Given the description of an element on the screen output the (x, y) to click on. 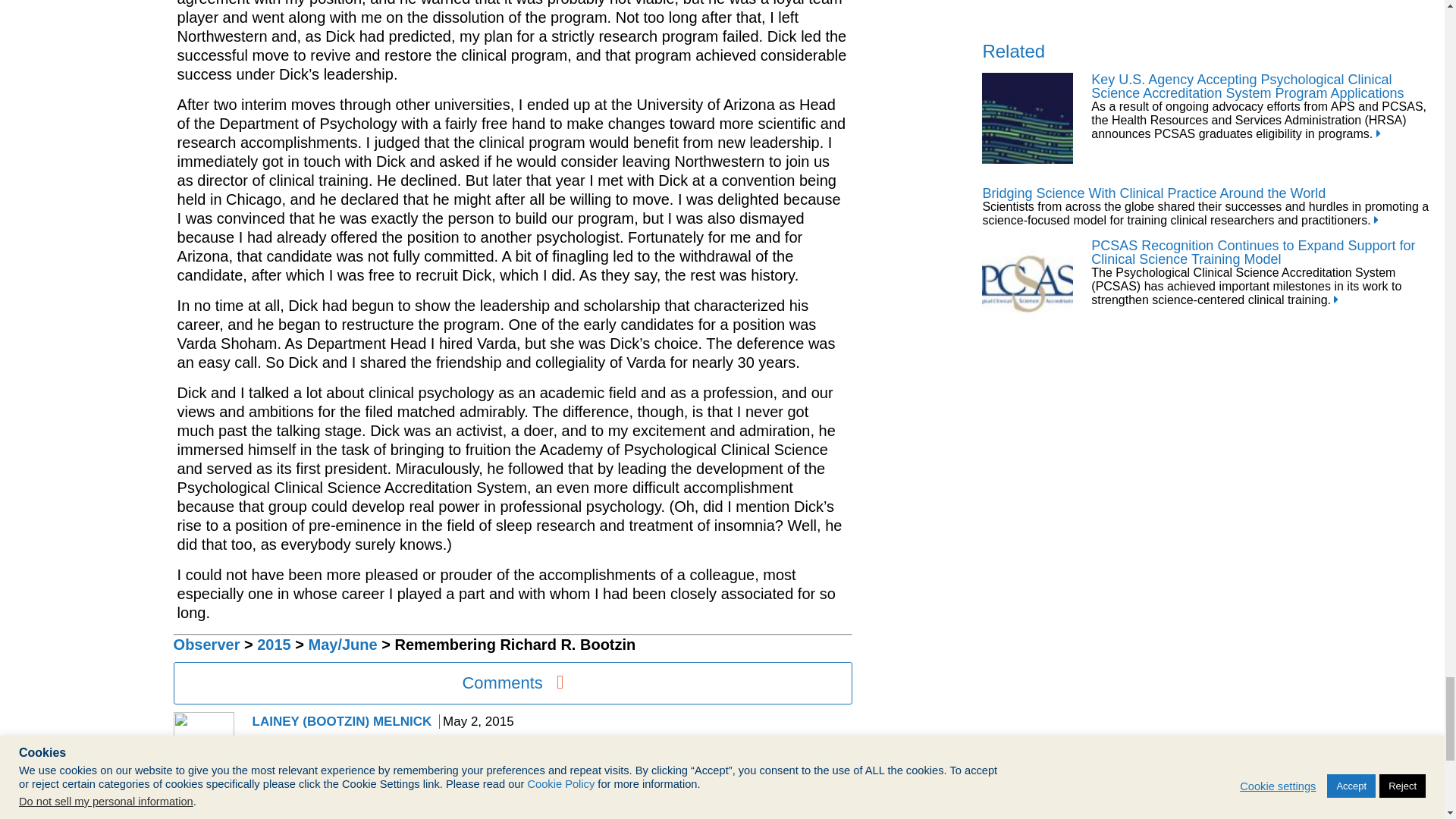
Go to the 2015 Issue archives. (274, 644)
Go to Observer. (206, 644)
